Given the description of an element on the screen output the (x, y) to click on. 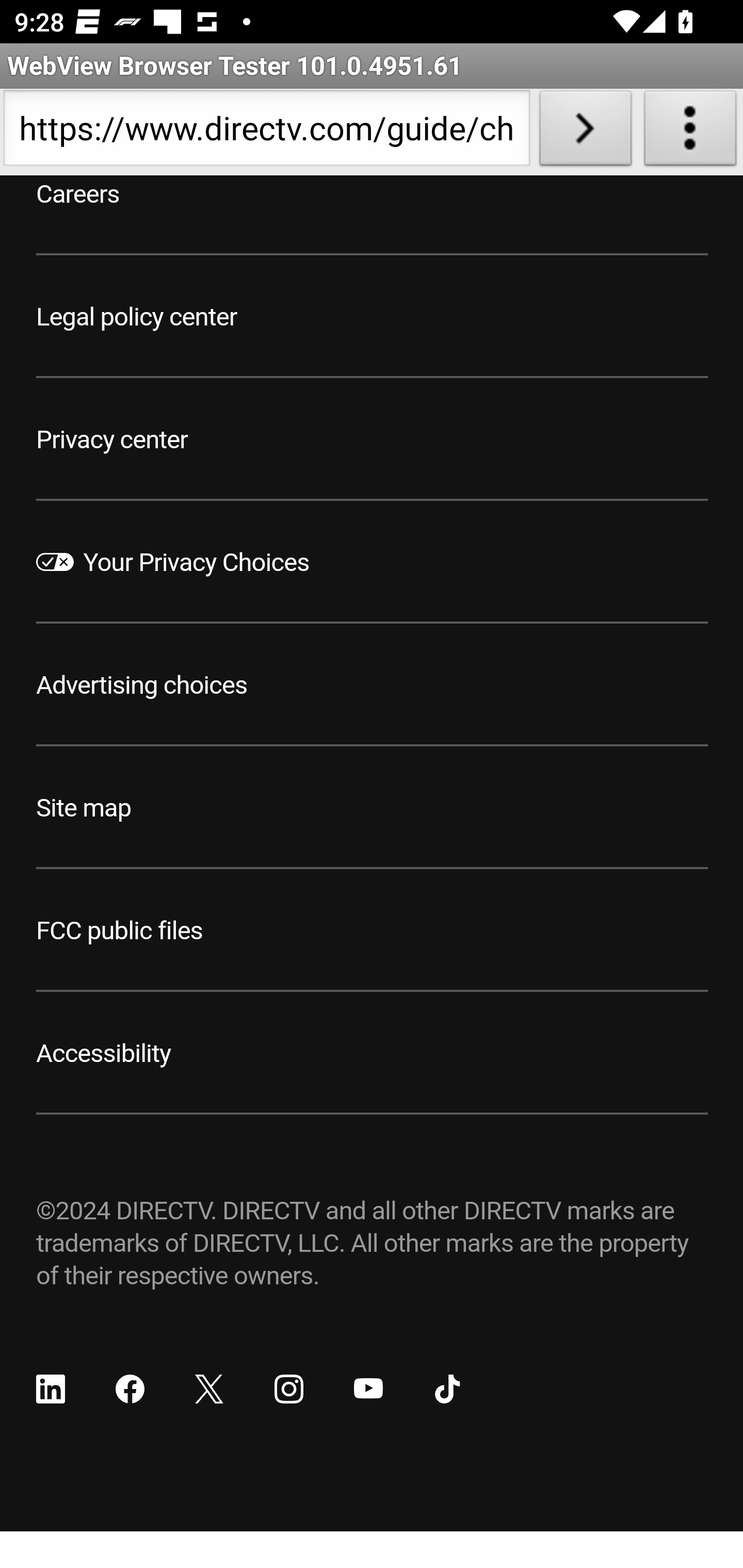
Load URL (585, 132)
About WebView (690, 132)
 Careers  Careers (78, 195)
 Legal policy center  Legal policy center (137, 317)
 Privacy center  Privacy center (112, 439)
Your Privacy Choices (196, 563)
 Advertising choices  Advertising choices (142, 685)
 Site map  Site map (83, 808)
 FCC public files  FCC public files (119, 932)
Accessibility (103, 1054)
DIRECTV LinkedIn (50, 1388)
Facebook (129, 1388)
Twitter (209, 1388)
Instagram (288, 1388)
YouTube (368, 1388)
TikTok (447, 1388)
